Given the description of an element on the screen output the (x, y) to click on. 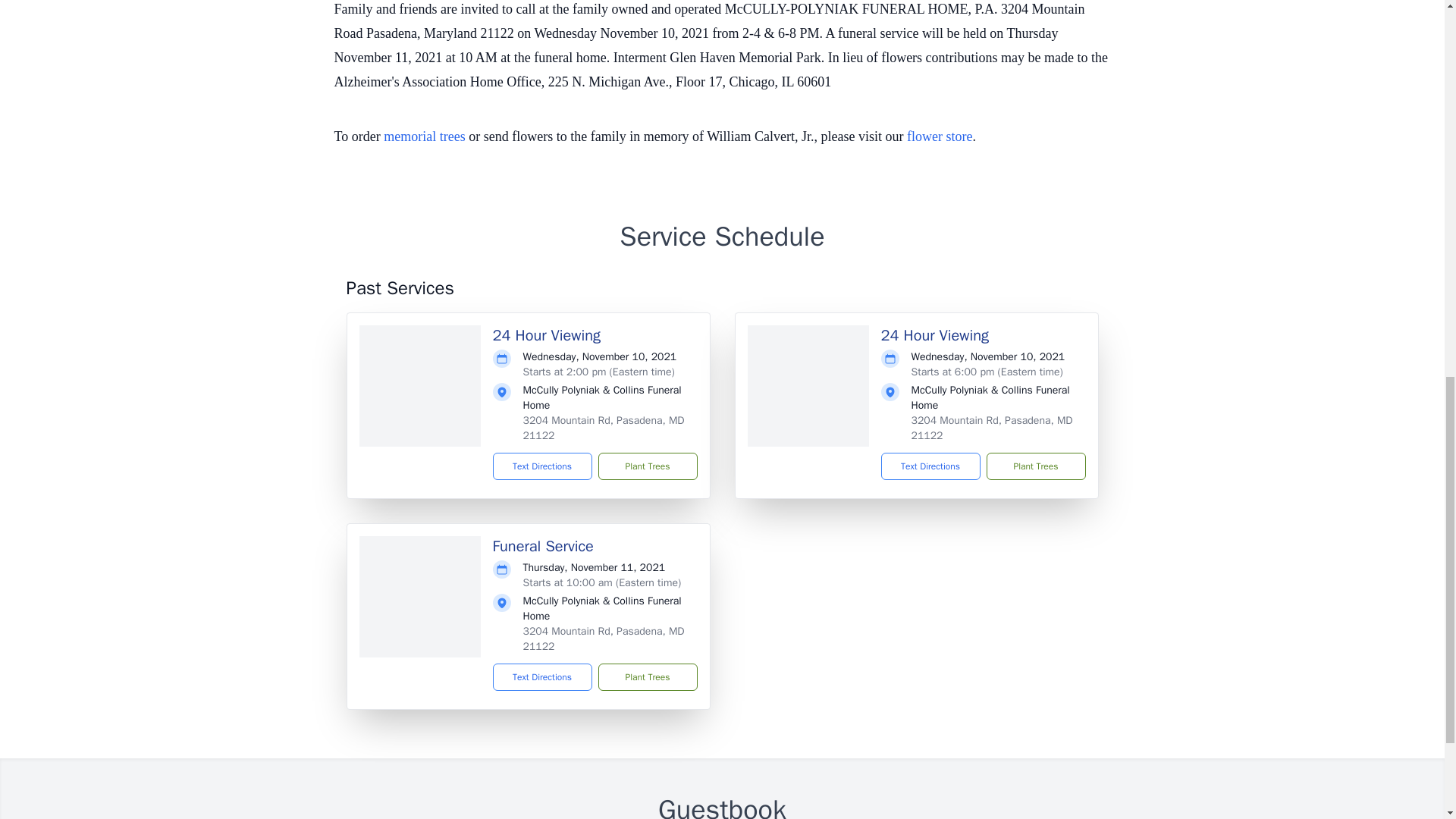
3204 Mountain Rd, Pasadena, MD 21122 (603, 428)
3204 Mountain Rd, Pasadena, MD 21122 (603, 638)
memorial trees (424, 136)
Text Directions (929, 465)
Plant Trees (1034, 465)
Text Directions (542, 465)
Text Directions (542, 677)
Plant Trees (646, 465)
Plant Trees (646, 677)
flower store (939, 136)
